Given the description of an element on the screen output the (x, y) to click on. 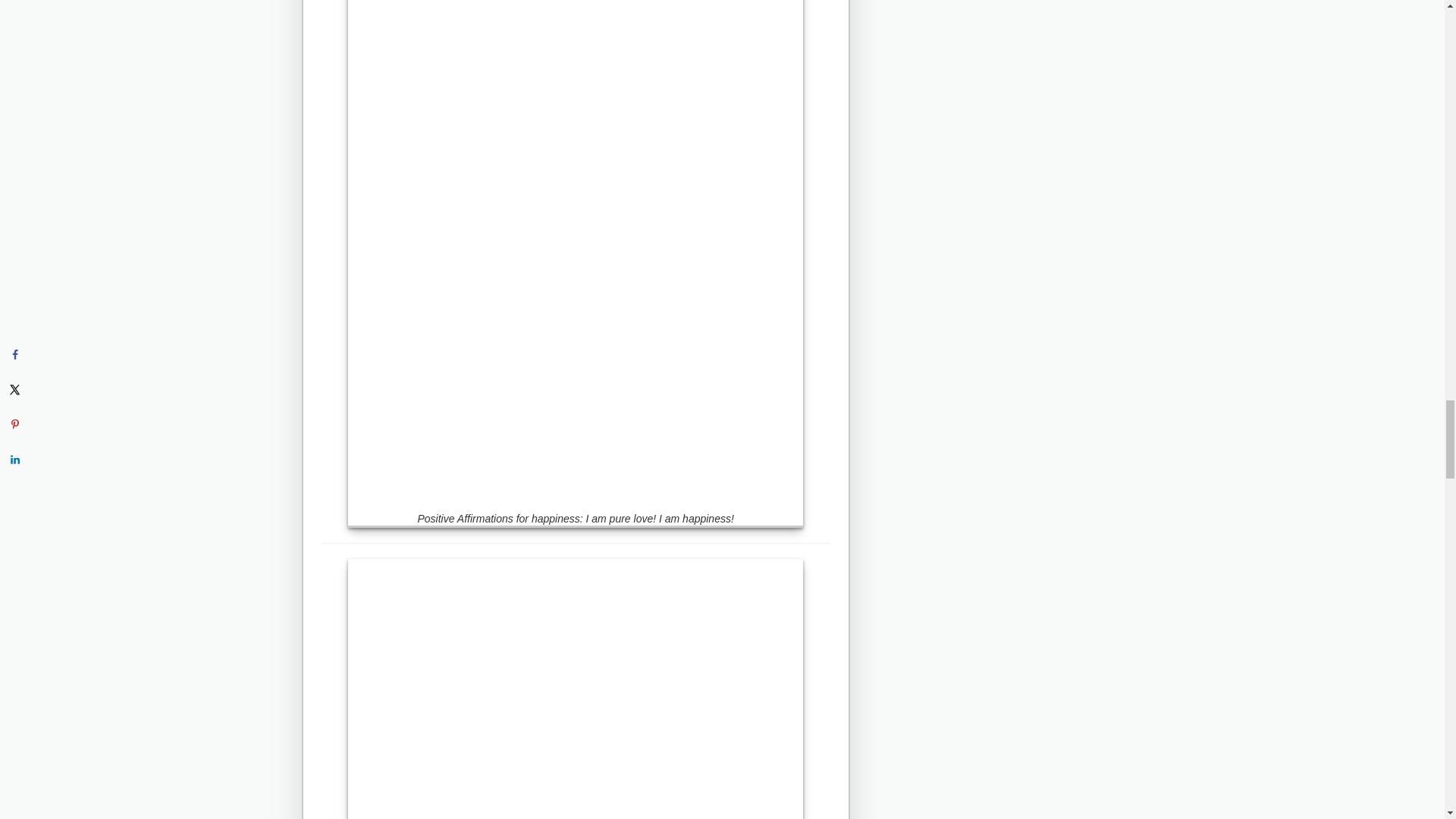
Happiness finds me! (575, 688)
